Given the description of an element on the screen output the (x, y) to click on. 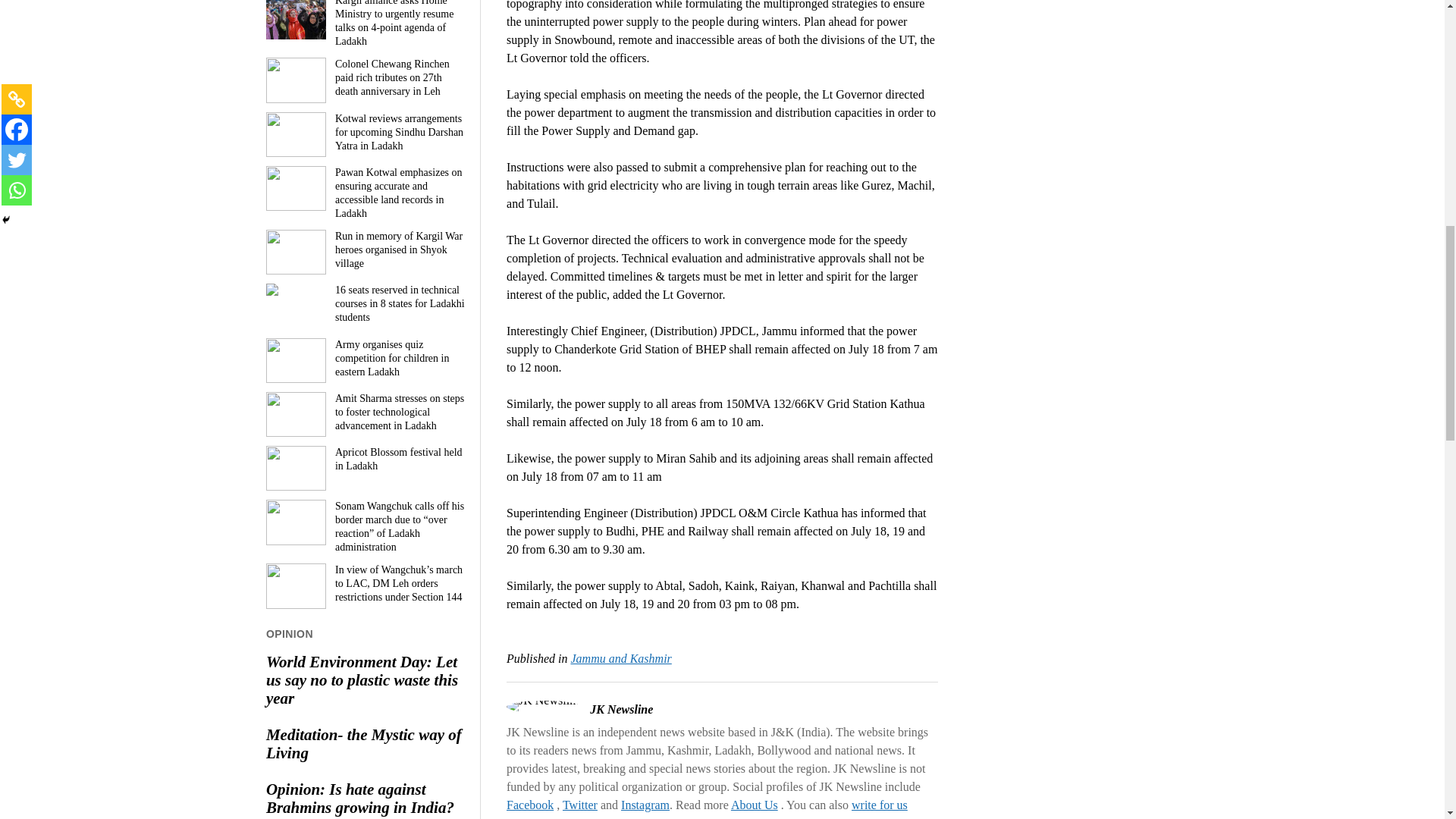
View all posts in Jammu and Kashmir (620, 658)
